Given the description of an element on the screen output the (x, y) to click on. 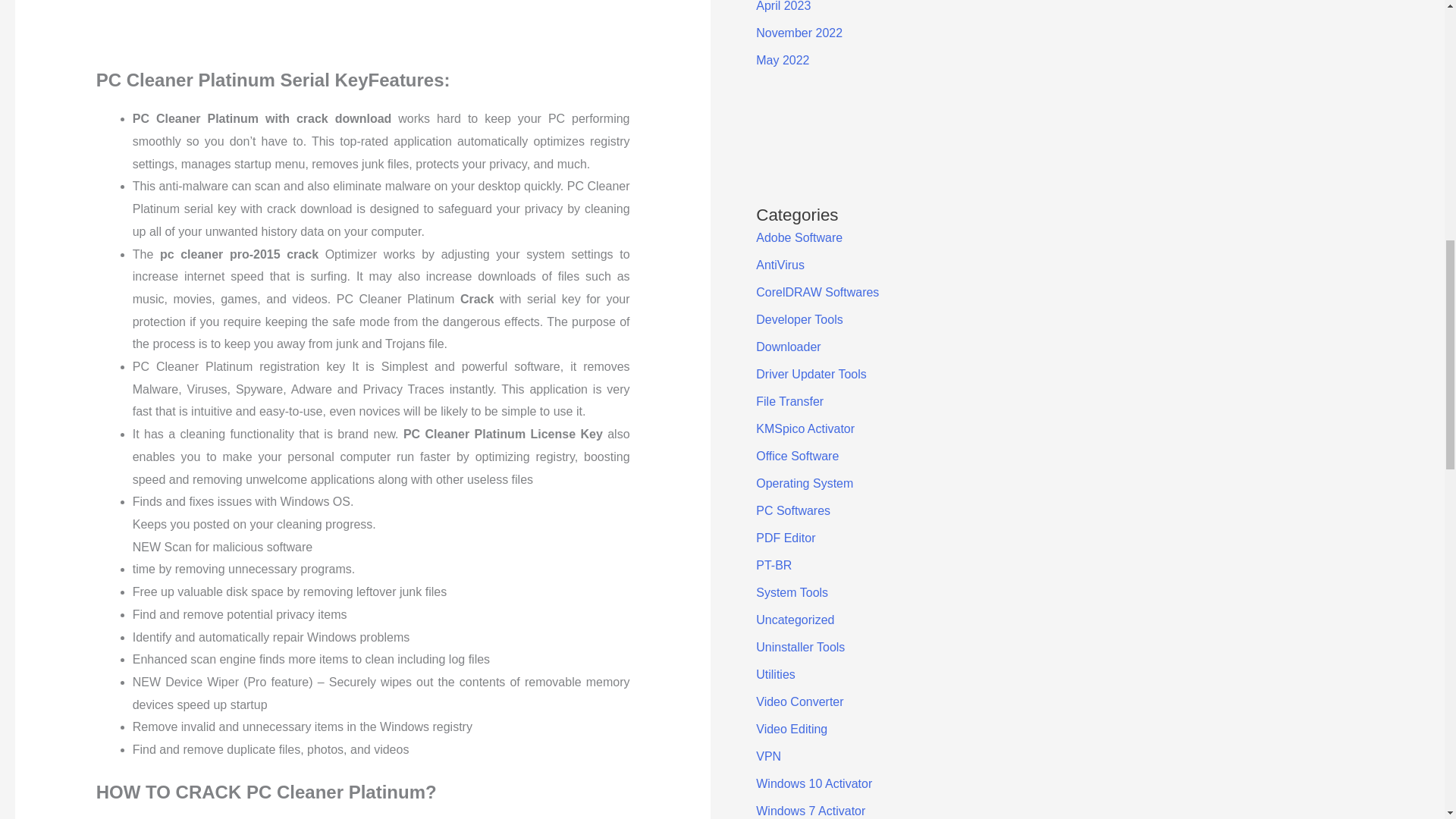
May 2022 (782, 60)
AntiVirus (780, 264)
Adobe Software (799, 237)
April 2023 (782, 6)
Driver Updater Tools (810, 373)
CorelDRAW Softwares (817, 291)
Downloader (788, 346)
PC Cleaner Platinum Crack (362, 33)
November 2022 (799, 32)
Developer Tools (799, 318)
